Given the description of an element on the screen output the (x, y) to click on. 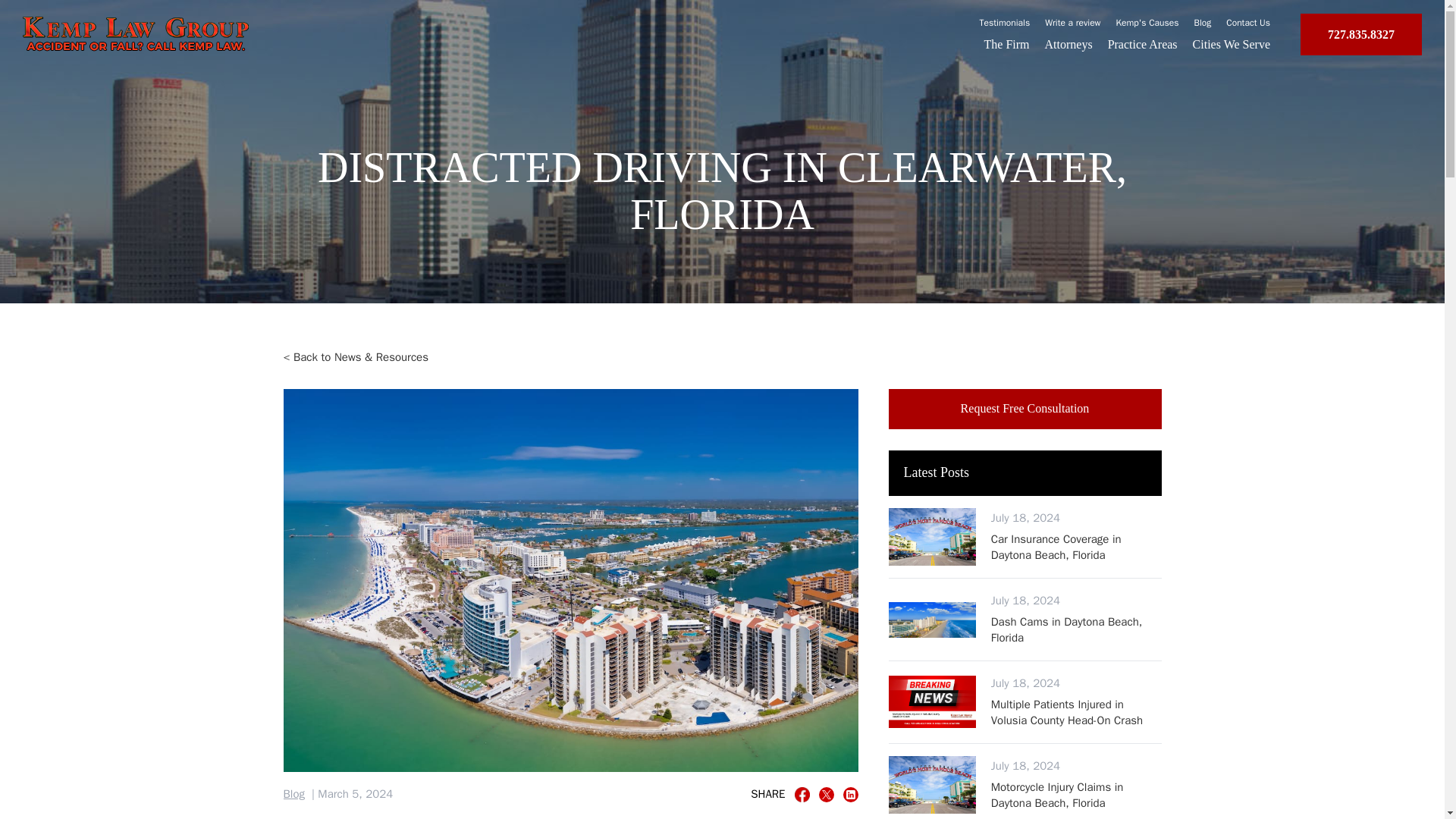
Cities We Serve (1230, 43)
Blog (1024, 408)
Car Insurance Coverage in Daytona Beach, Florida (293, 794)
Practice Areas (1076, 546)
Contact Us (1142, 43)
Attorneys (1247, 22)
Motorcycle Injury Claims in Daytona Beach, Florida (1069, 43)
Write a review (1076, 794)
Latest Posts (1072, 22)
The Firm (1024, 473)
Testimonials (1006, 43)
Multiple Patients Injured in Volusia County Head-On Crash (1004, 22)
Blog (1076, 712)
Kemp's Causes (1202, 22)
